Given the description of an element on the screen output the (x, y) to click on. 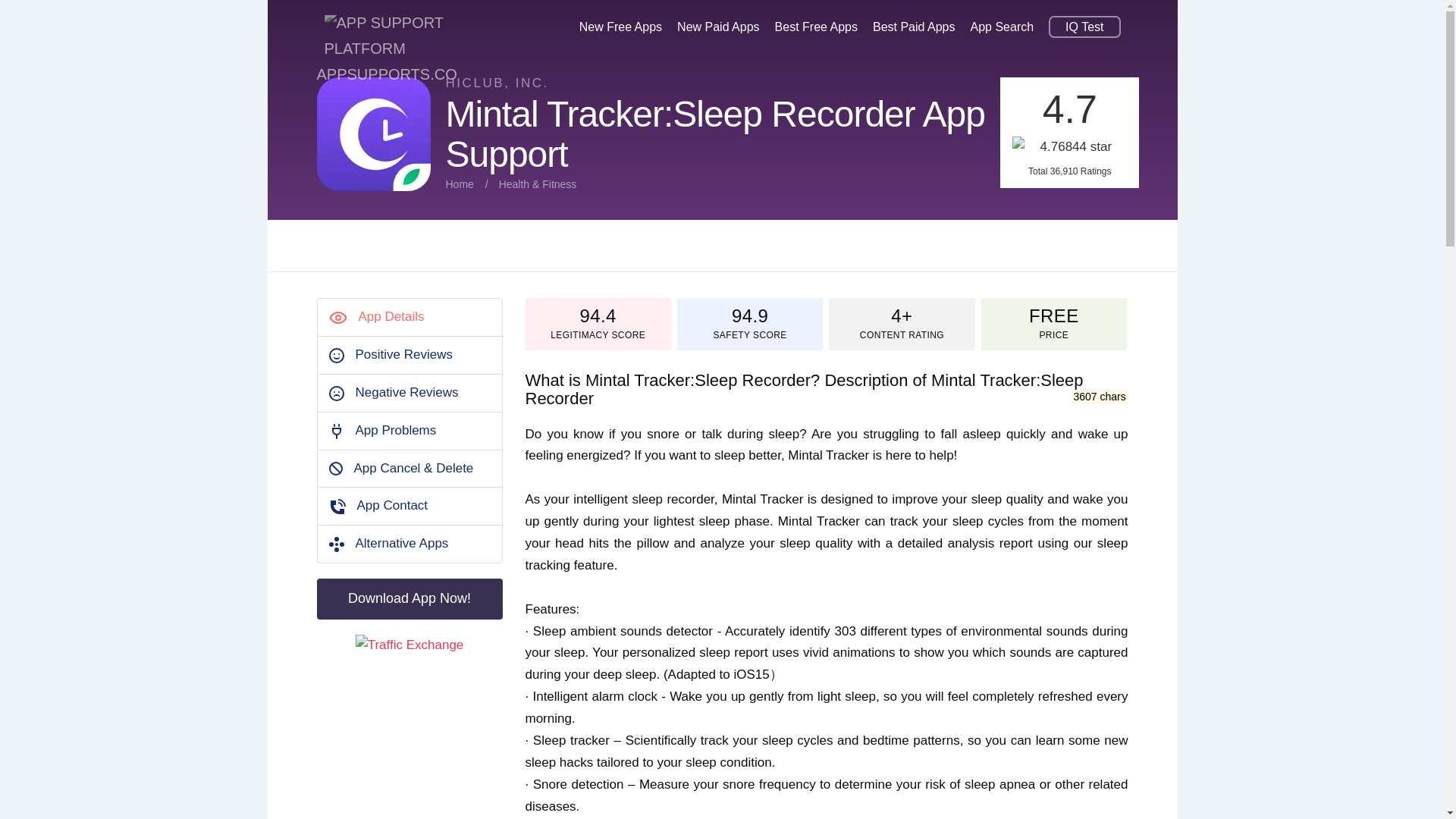
App Search (1002, 28)
App Contact (392, 504)
New Free Apps (620, 28)
App Problems (395, 430)
Download App Now! (409, 598)
App Support Platform (414, 55)
Negative Reviews (406, 391)
Is Mintal Tracker:Sleep Recorder safe? (749, 335)
How to cancel Mintal Tracker:Sleep Recorder? (413, 468)
Product details of Mintal Tracker:Sleep Recorder (901, 335)
CONTENT RATING (901, 335)
Contact Mintal Tracker:Sleep Recorder (392, 504)
Is Mintal Tracker:Sleep Recorder legit? (597, 335)
IQ Test (1083, 28)
Best Paid Apps (913, 28)
